Given the description of an element on the screen output the (x, y) to click on. 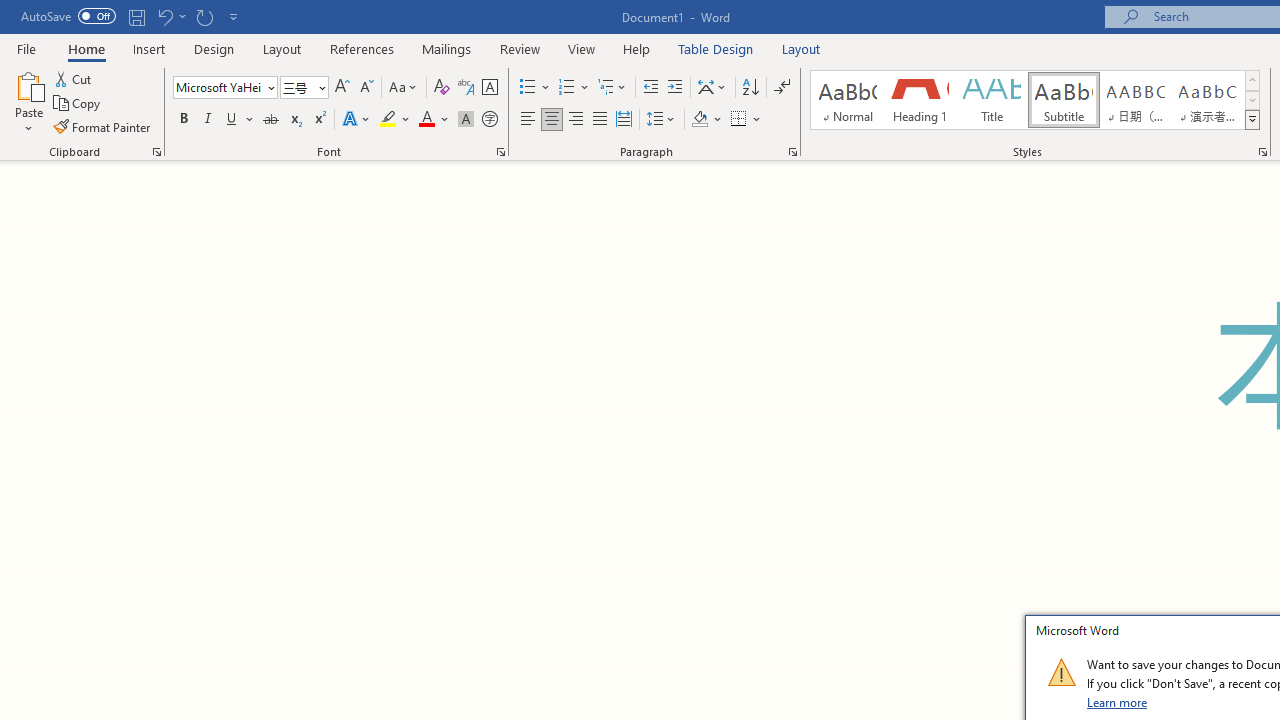
Decrease Indent (650, 87)
More Options (757, 119)
Customize Quick Access Toolbar (234, 15)
Increase Indent (675, 87)
Bold (183, 119)
Cut (73, 78)
Undo Grow Font (170, 15)
Text Effects and Typography (357, 119)
Borders (746, 119)
Class: NetUIImage (1061, 671)
Bullets (535, 87)
Font (218, 87)
Paragraph... (792, 151)
